Given the description of an element on the screen output the (x, y) to click on. 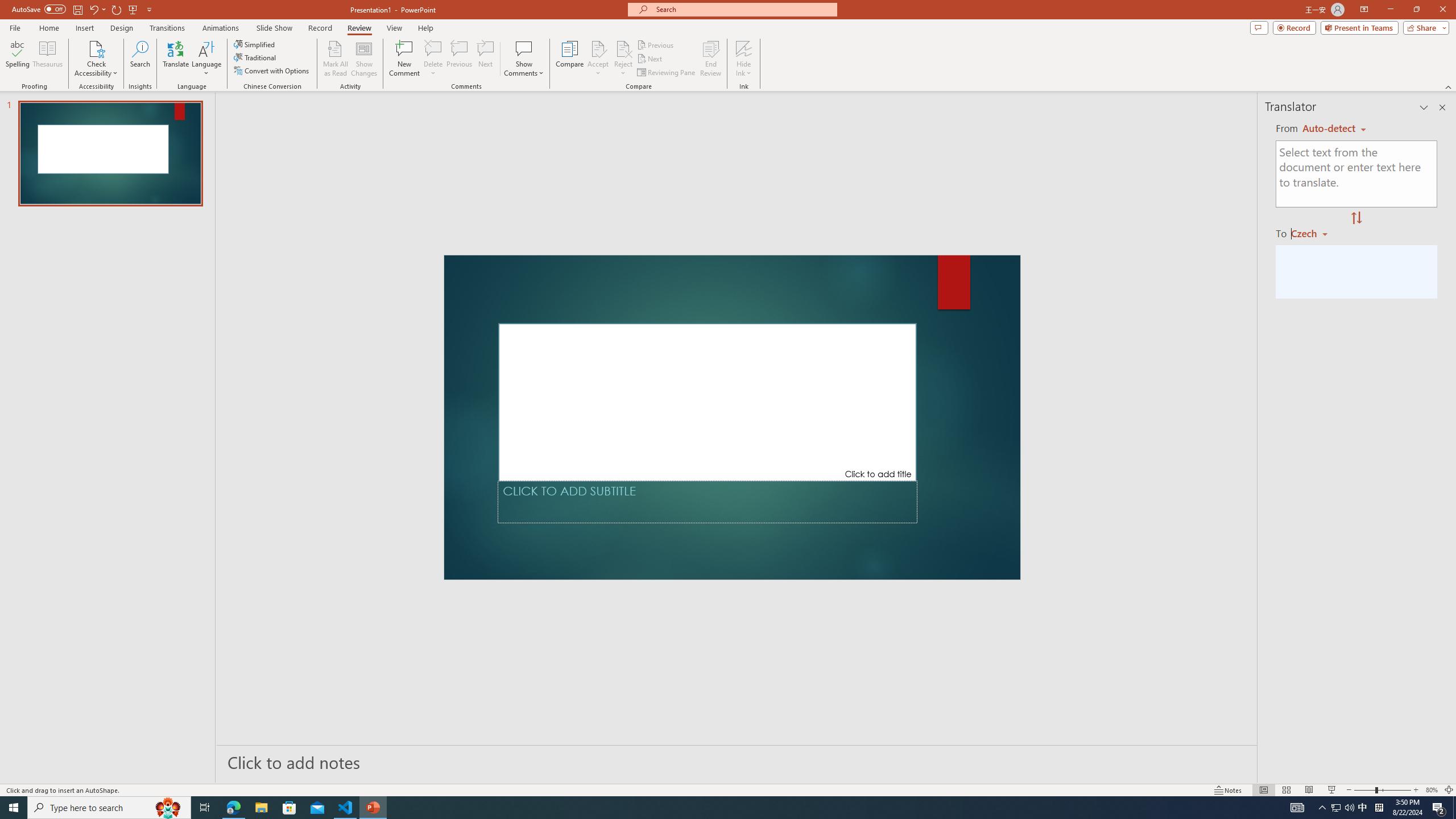
Reject (622, 58)
Czech (1313, 232)
Reject Change (622, 48)
Mark All as Read (335, 58)
Compare (569, 58)
Reviewing Pane (666, 72)
